Given the description of an element on the screen output the (x, y) to click on. 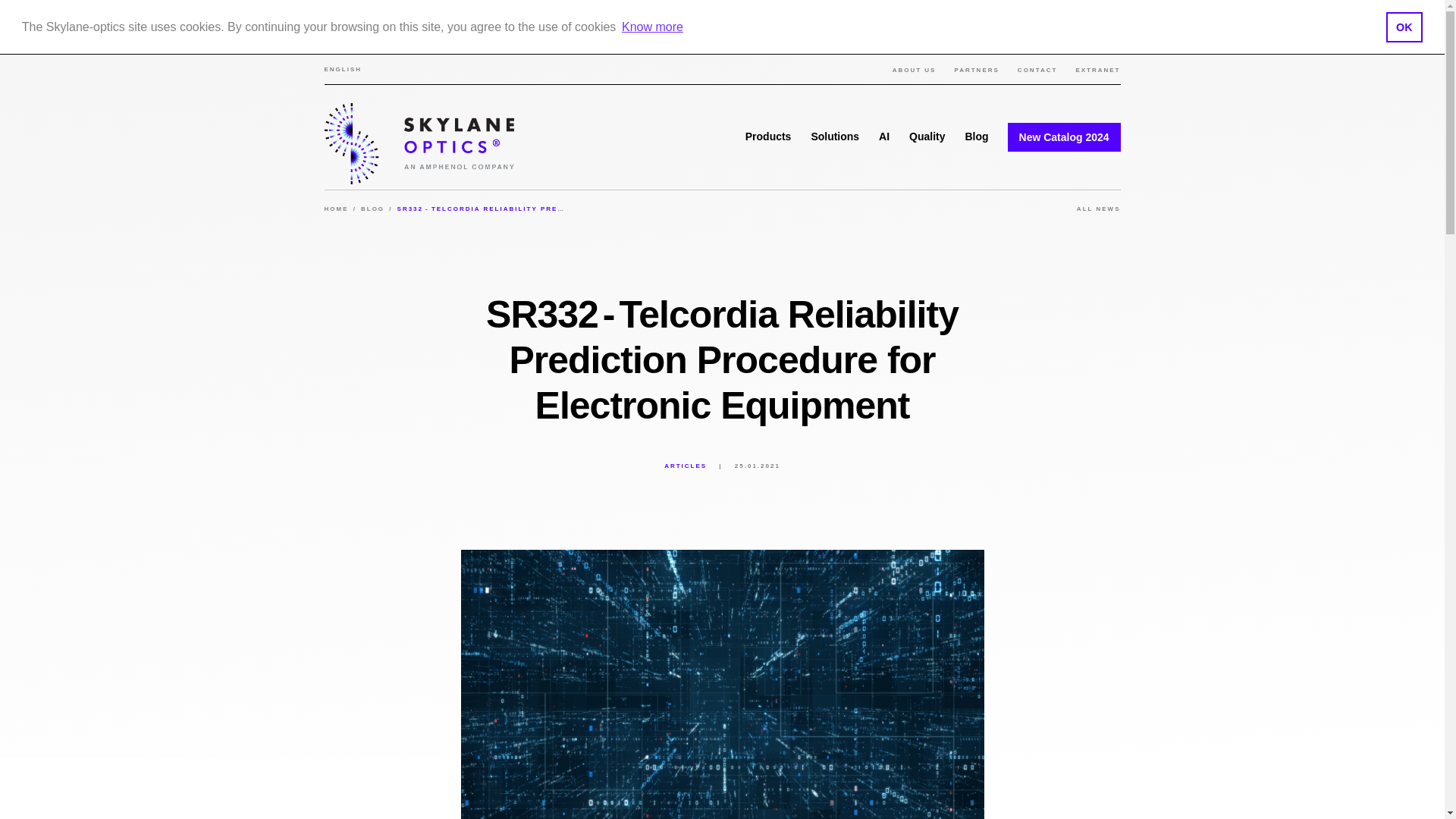
ABOUT US (914, 70)
CONTACT (1037, 70)
Products (768, 136)
ALL NEWS (1091, 209)
Solutions (834, 136)
About Us (914, 70)
Products (768, 136)
BLOG (372, 209)
PARTNERS (975, 70)
Contact (1037, 70)
Blog (975, 136)
Partners (975, 70)
OK (1404, 27)
HOME (336, 209)
Know more (652, 26)
